Given the description of an element on the screen output the (x, y) to click on. 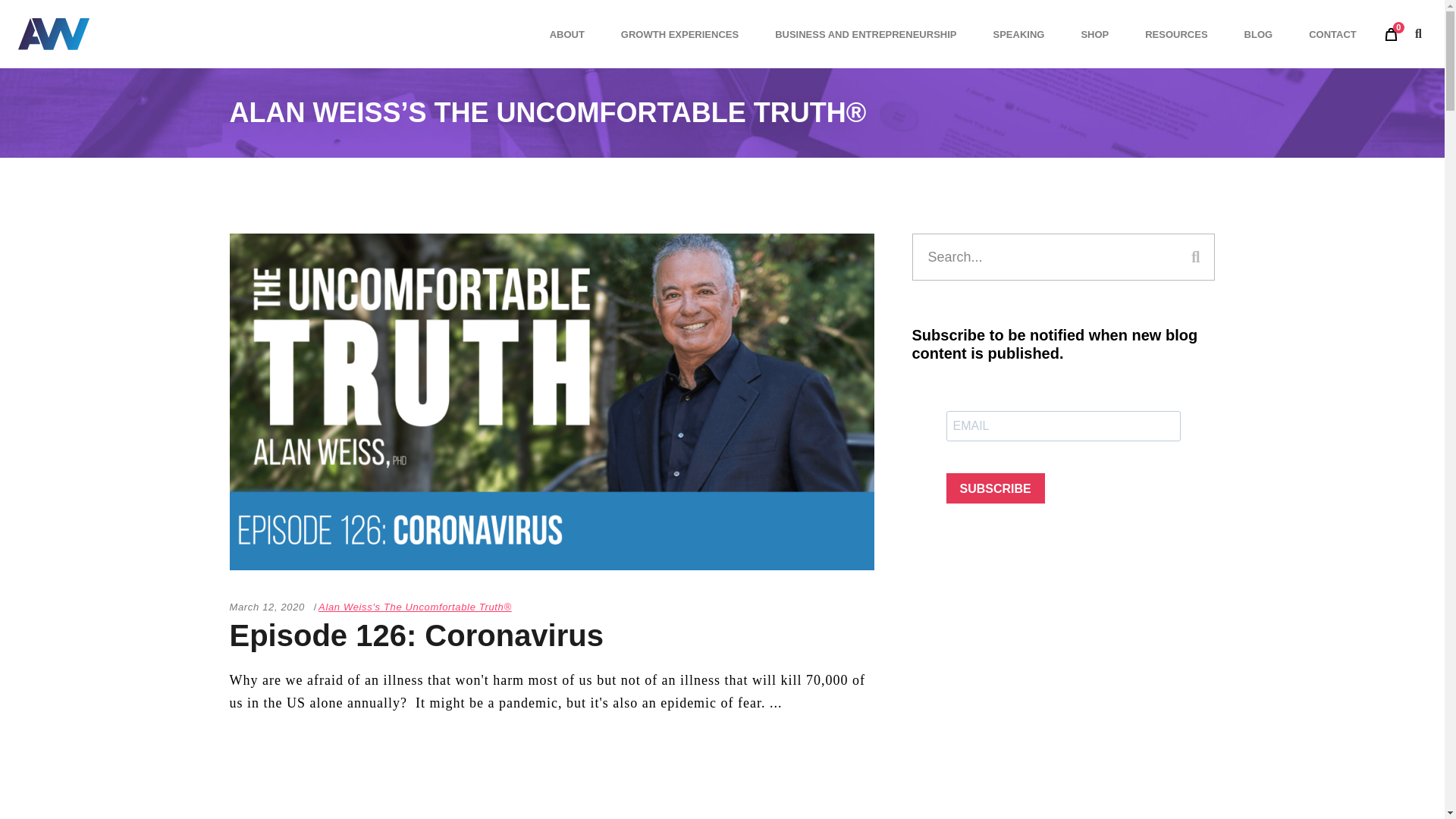
ABOUT (566, 33)
Episode 126: Coronavirus (415, 635)
GROWTH EXPERIENCES (679, 33)
